Given the description of an element on the screen output the (x, y) to click on. 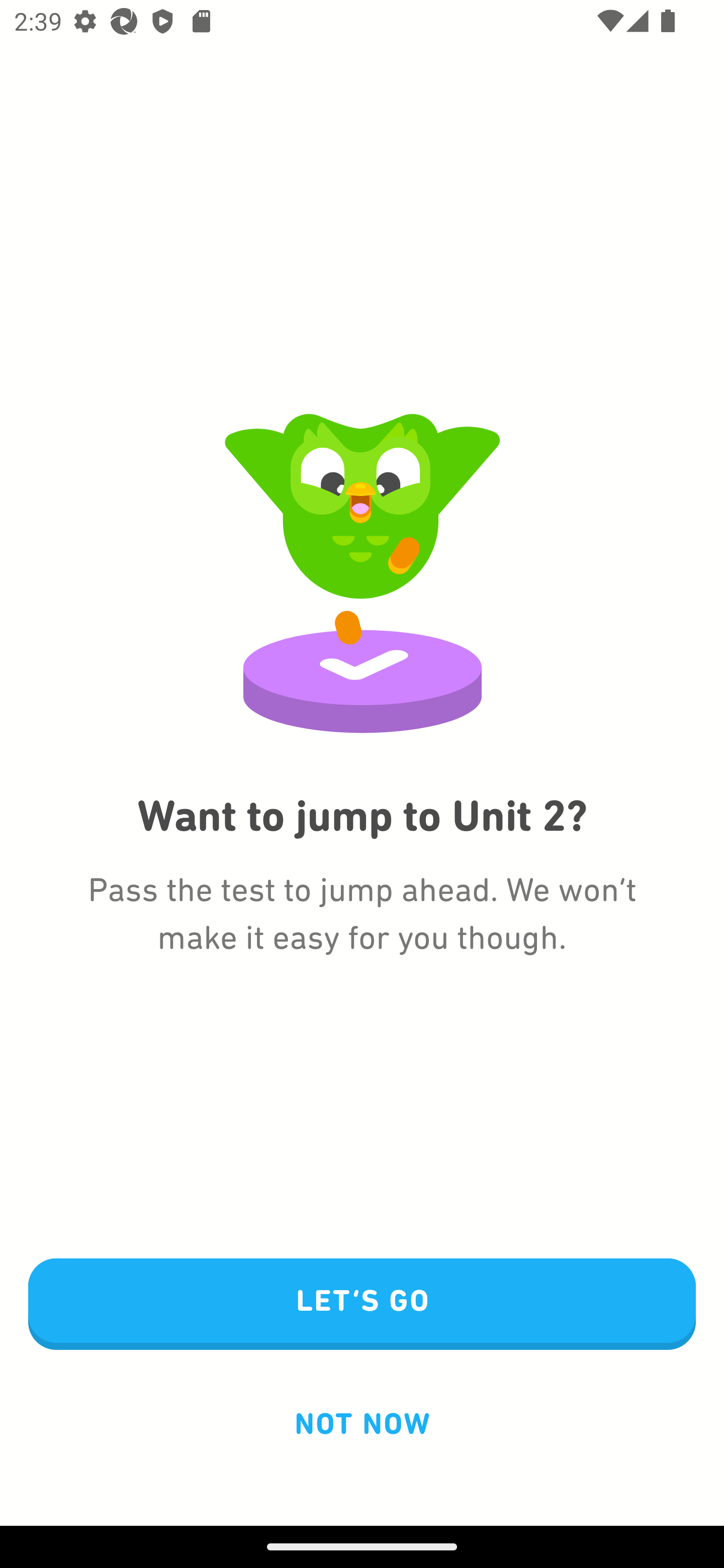
LET’S GO (361, 1304)
NOT NOW (361, 1423)
